Given the description of an element on the screen output the (x, y) to click on. 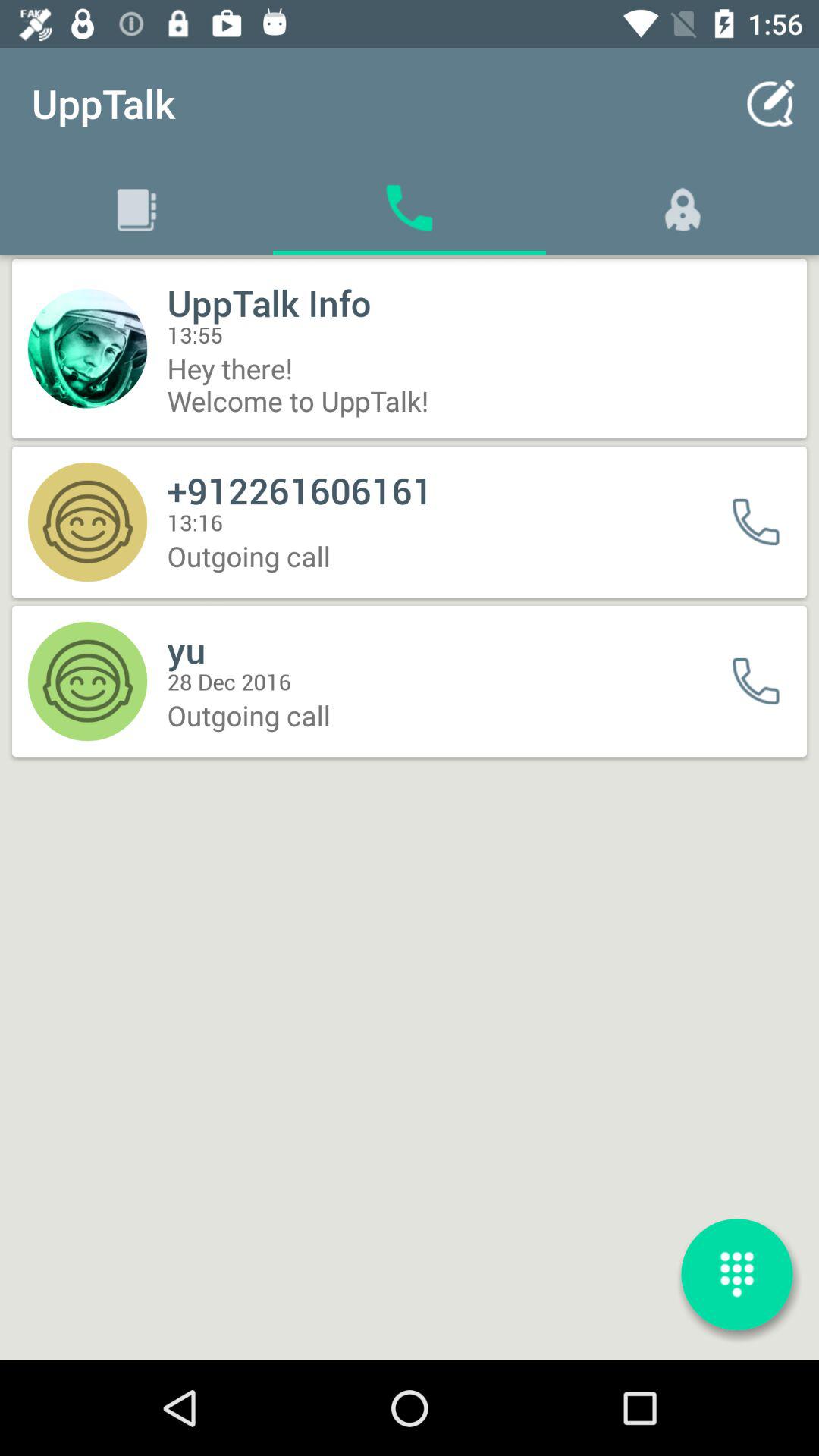
turn off app next to upptalk item (771, 103)
